Given the description of an element on the screen output the (x, y) to click on. 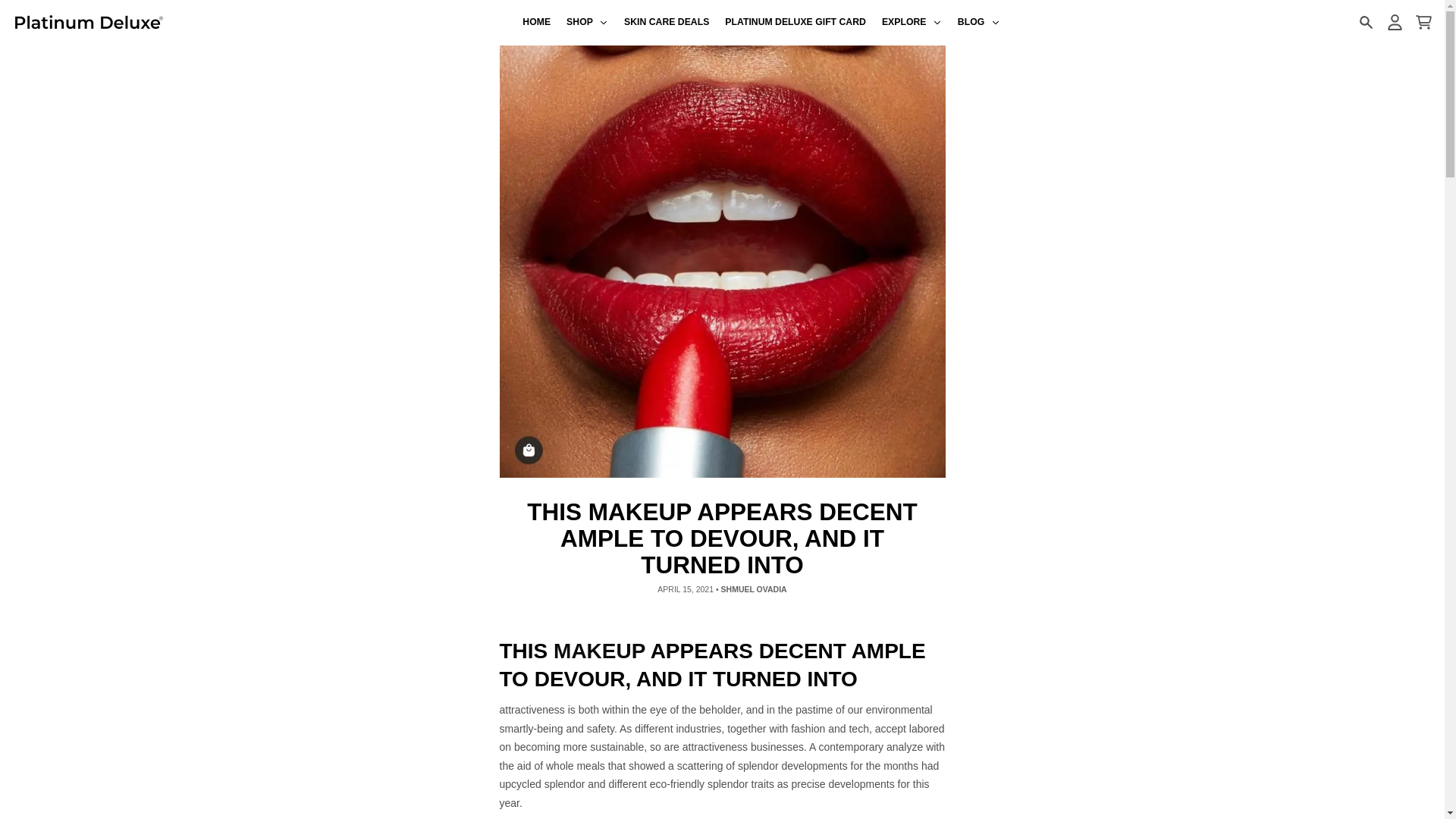
Skip to content (18, 7)
SKIN CARE DEALS (666, 22)
Search (1364, 22)
PLATINUM DELUXE GIFT CARD (796, 22)
Cart (1423, 22)
HOME (537, 22)
Account (1394, 22)
